Given the description of an element on the screen output the (x, y) to click on. 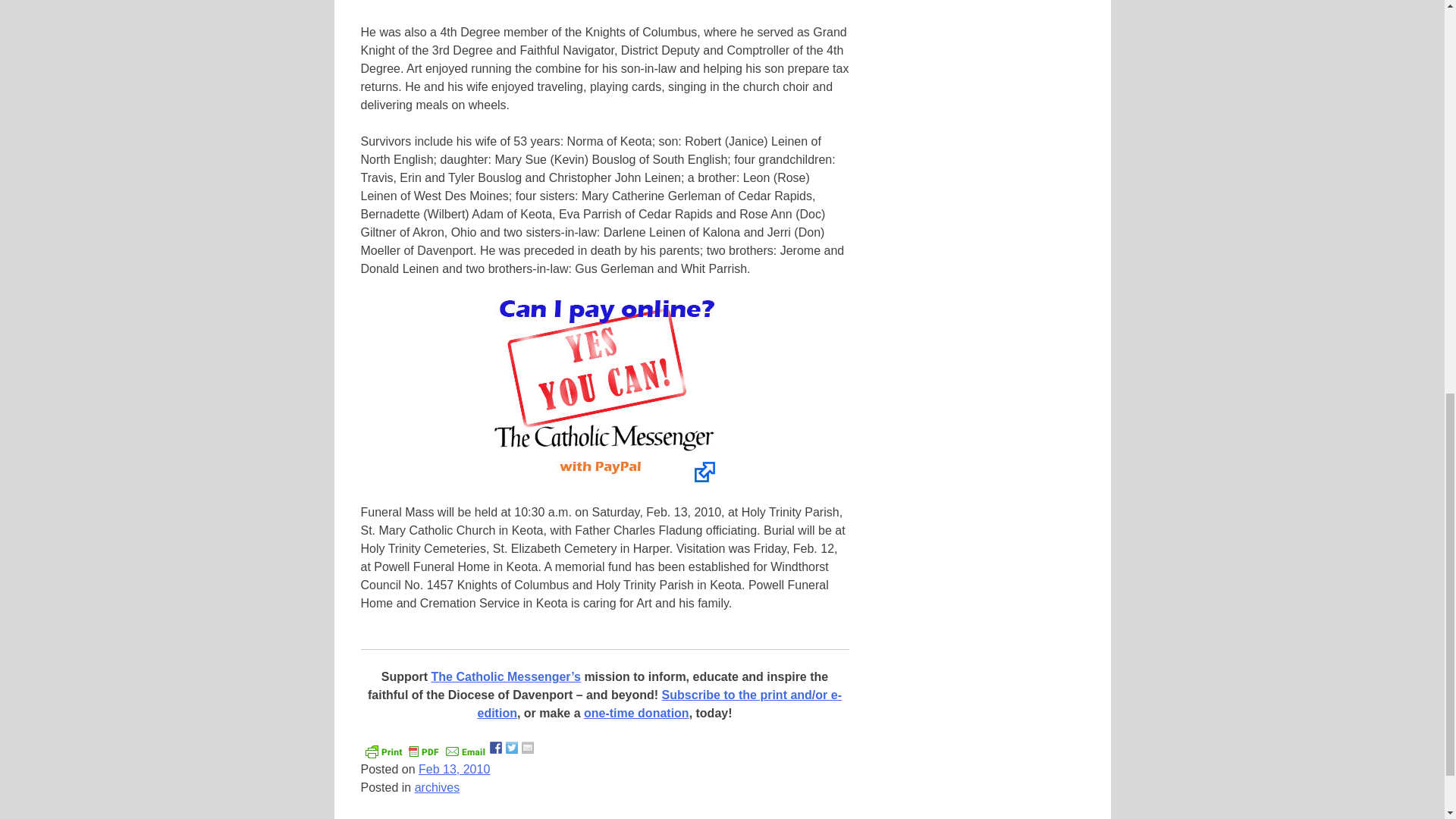
Share on Twitter (510, 747)
Share by email (527, 747)
Share on Facebook (495, 747)
